Given the description of an element on the screen output the (x, y) to click on. 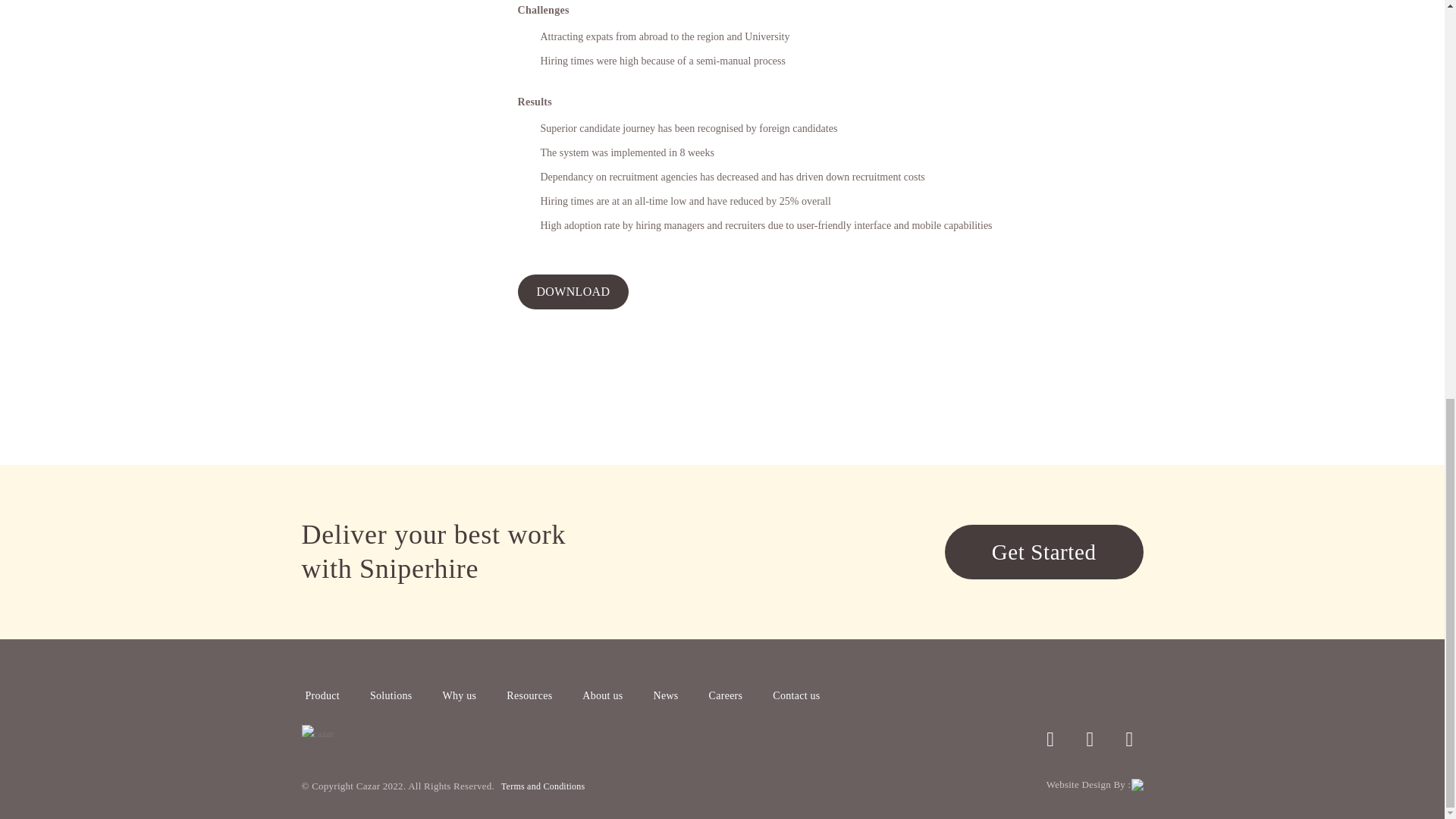
Twitter (1050, 739)
Youtube (1089, 739)
Linkedin (1129, 739)
DOWNLOAD (572, 291)
kustar (376, 20)
